Given the description of an element on the screen output the (x, y) to click on. 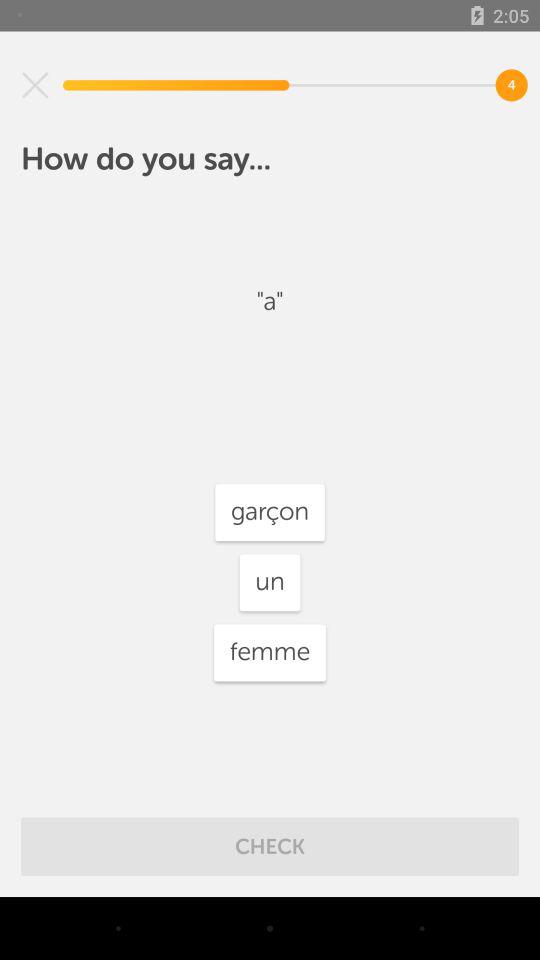
launch check icon (270, 846)
